Given the description of an element on the screen output the (x, y) to click on. 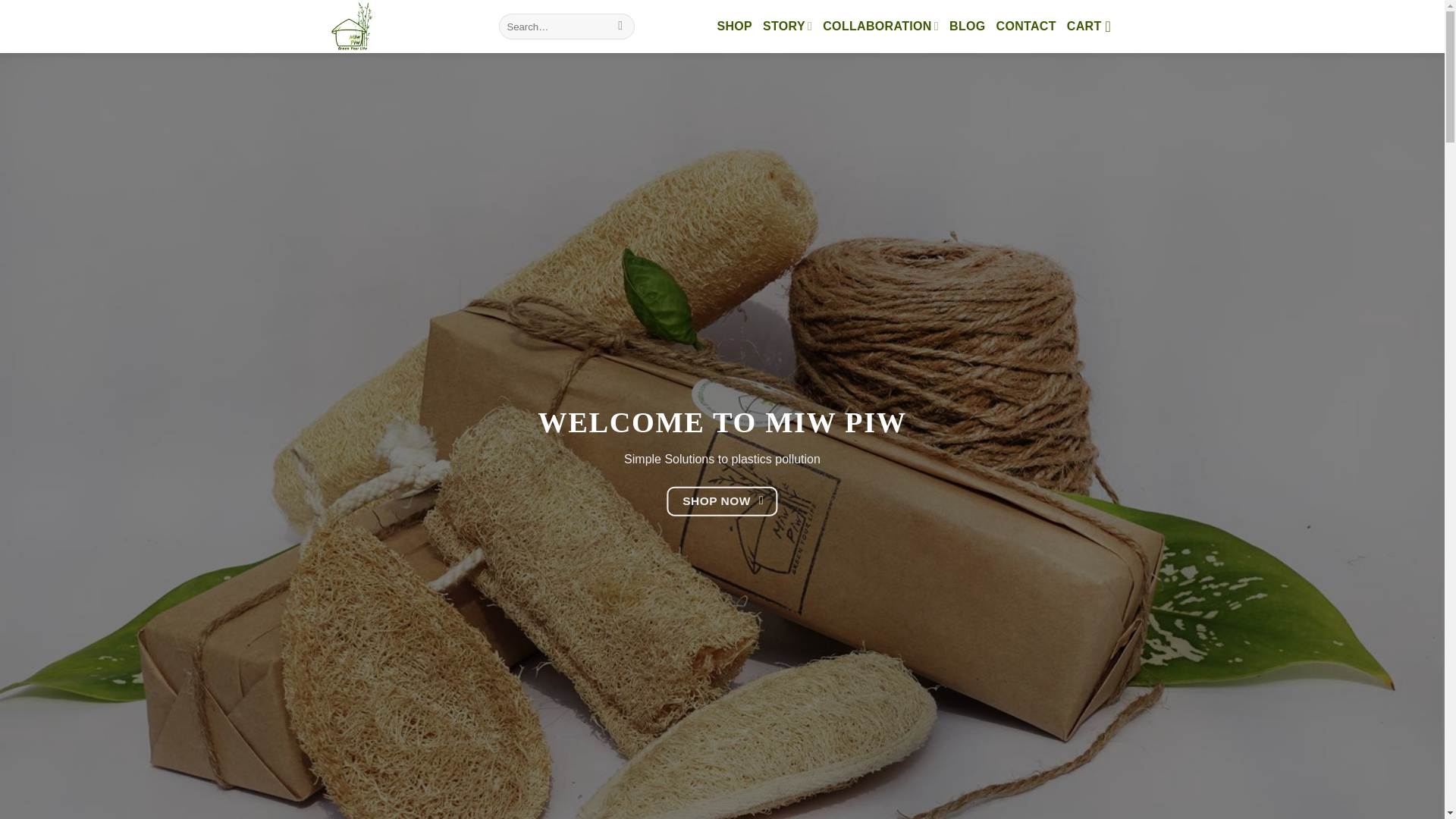
STORY (787, 25)
Cart (1094, 26)
SHOP (734, 26)
SHOP NOW (721, 501)
MiwPiw Shop (400, 26)
BLOG (967, 26)
CART (1094, 26)
COLLABORATION (880, 25)
CONTACT (1026, 26)
Search (620, 26)
